Given the description of an element on the screen output the (x, y) to click on. 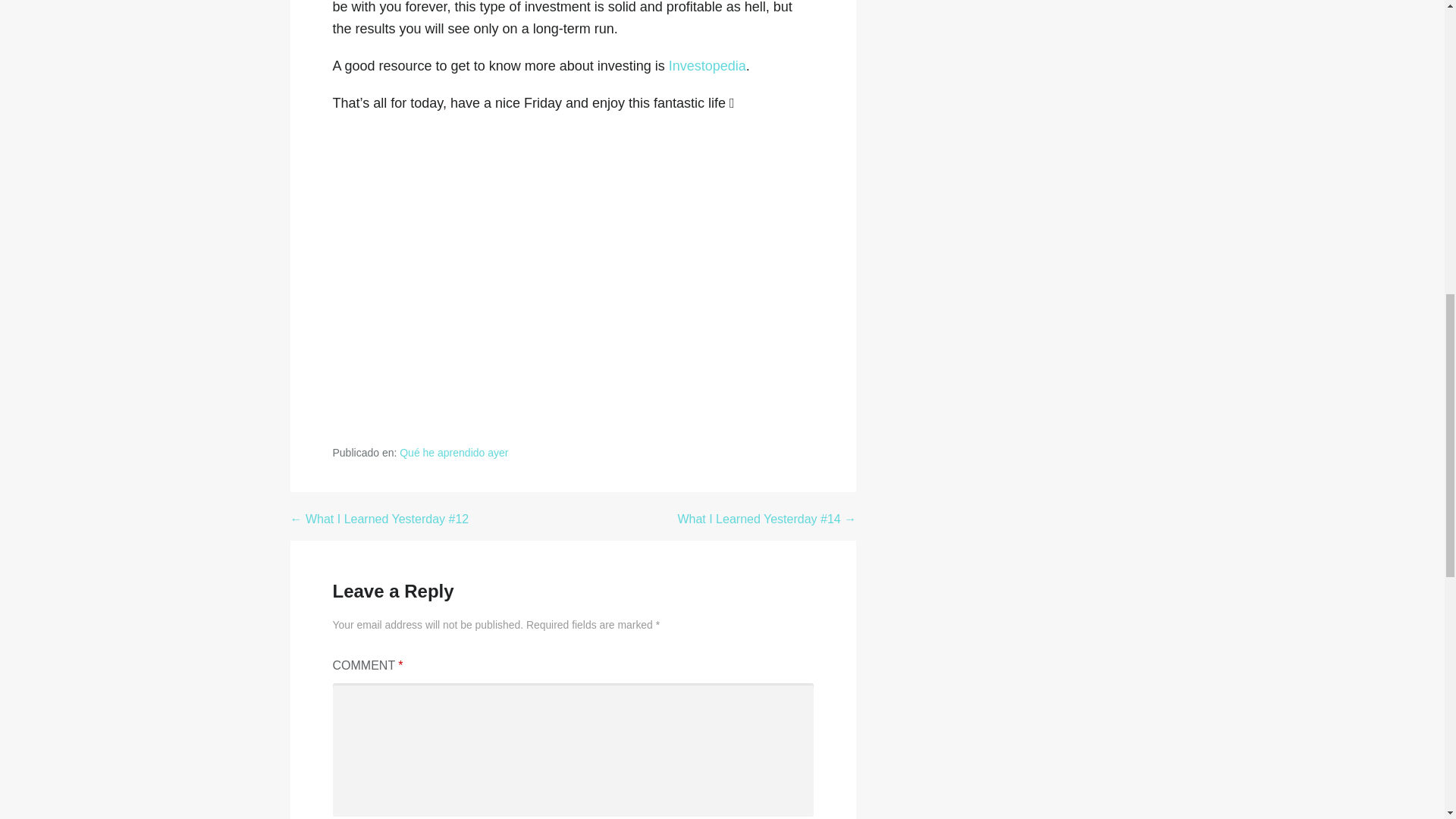
Investopedia (706, 65)
